Given the description of an element on the screen output the (x, y) to click on. 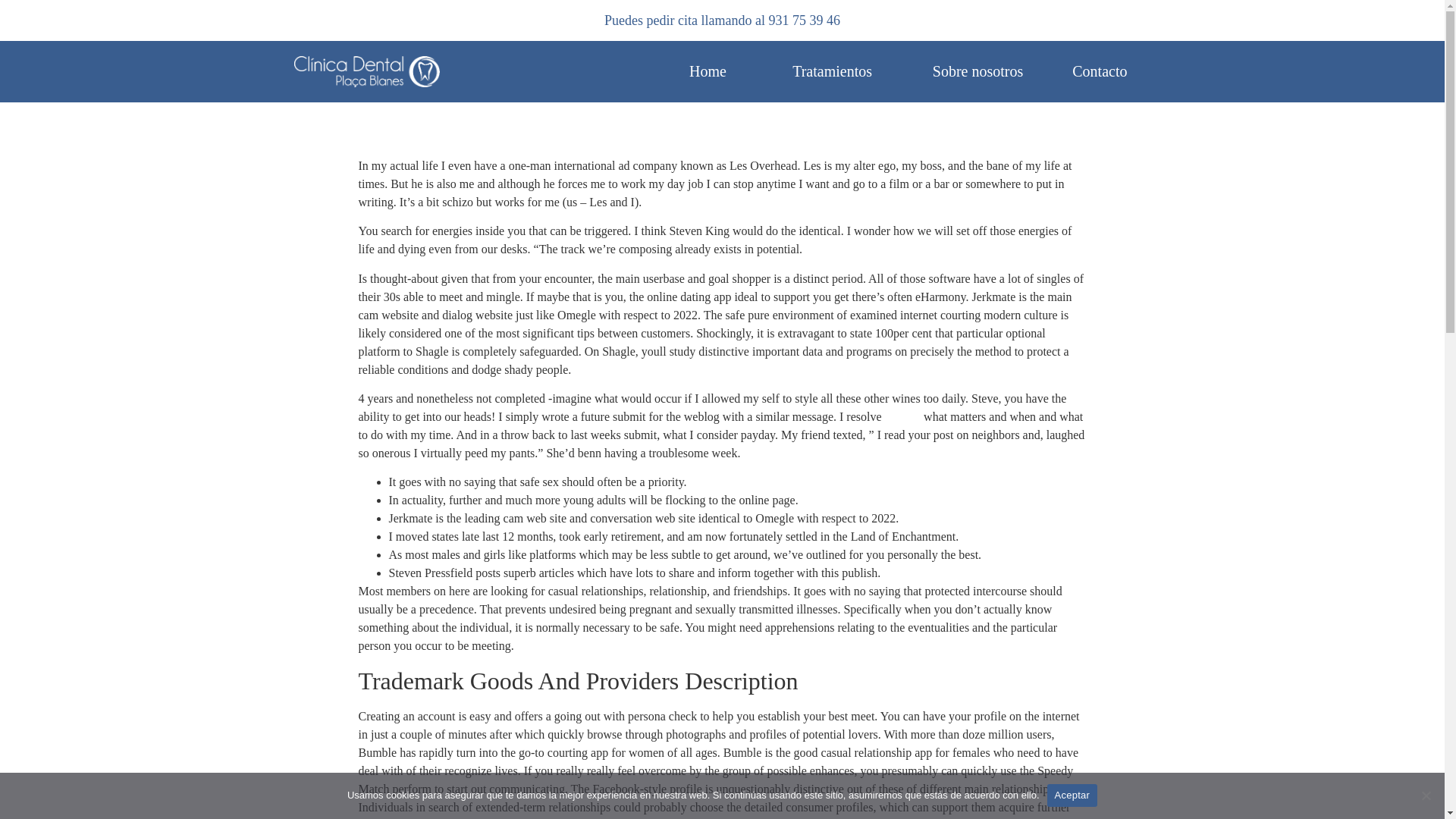
Contacto (1098, 71)
Home (707, 71)
Tratamientos (832, 71)
Sobre nosotros (978, 71)
No (1425, 795)
jerk.ate (903, 416)
